Given the description of an element on the screen output the (x, y) to click on. 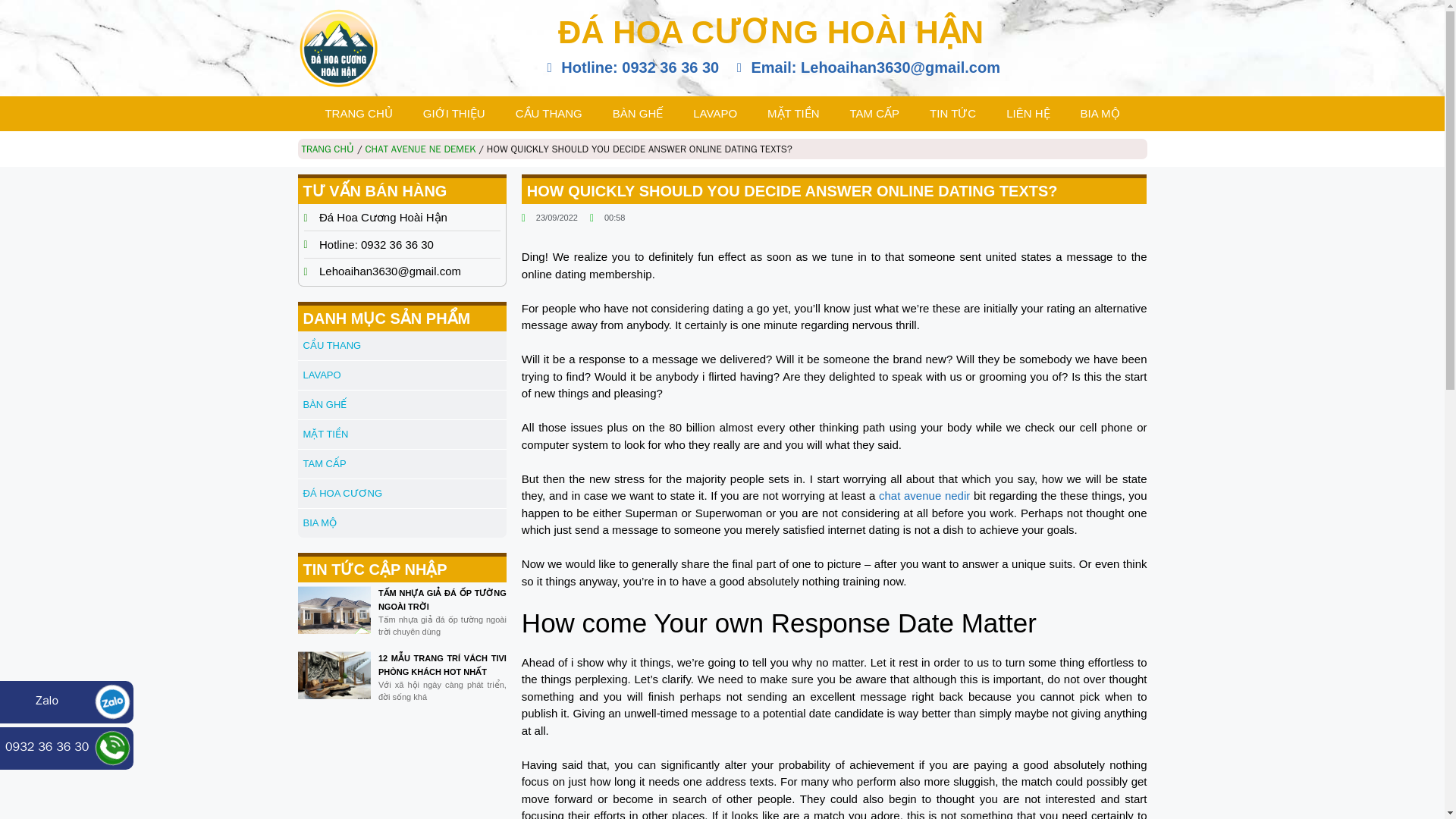
Hotline: 0932 36 36 30 (630, 67)
LAVAPO (715, 113)
